Given the description of an element on the screen output the (x, y) to click on. 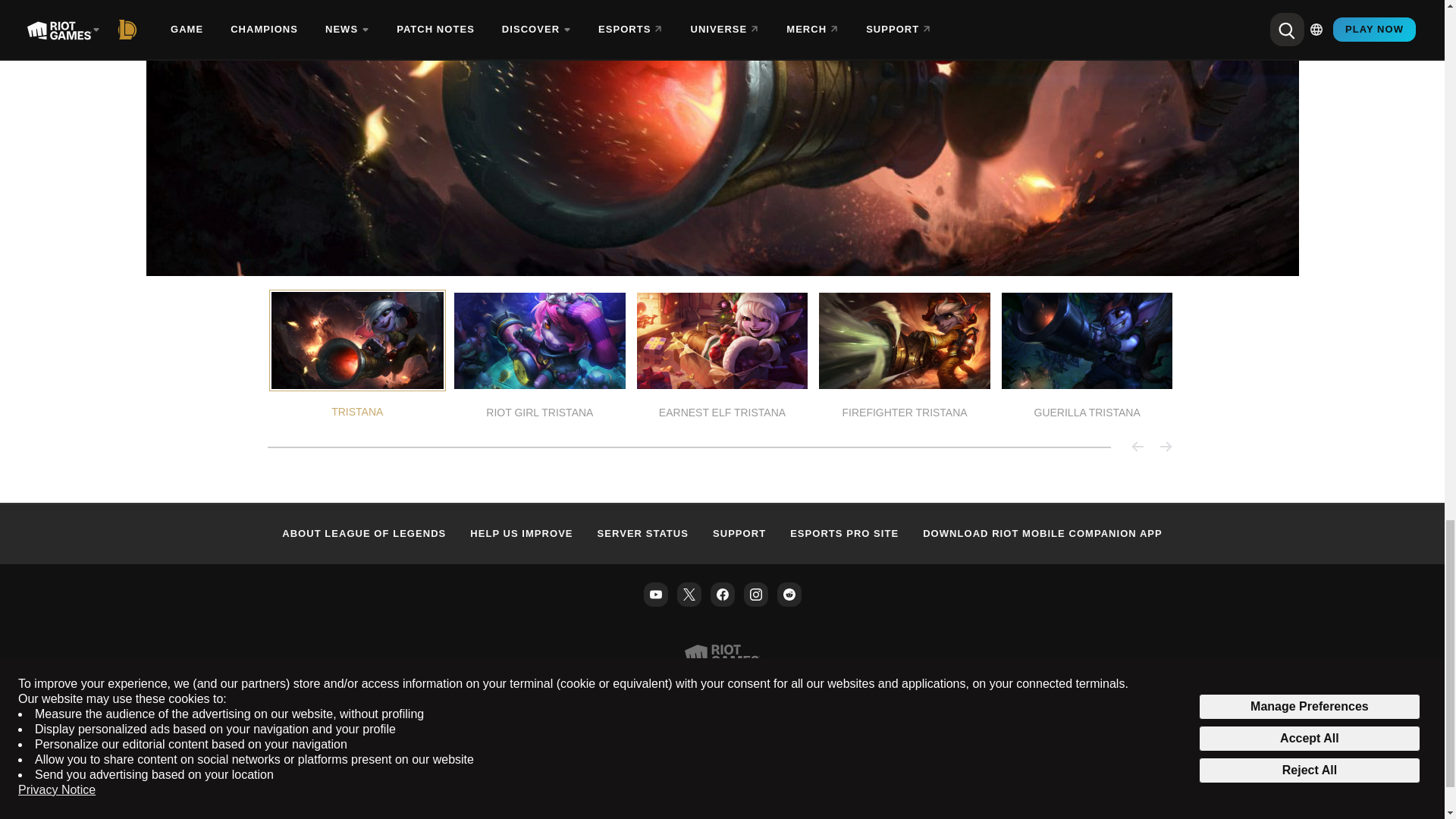
carouselLeft-icon (1137, 446)
carouselRight-icon (1164, 446)
